Given the description of an element on the screen output the (x, y) to click on. 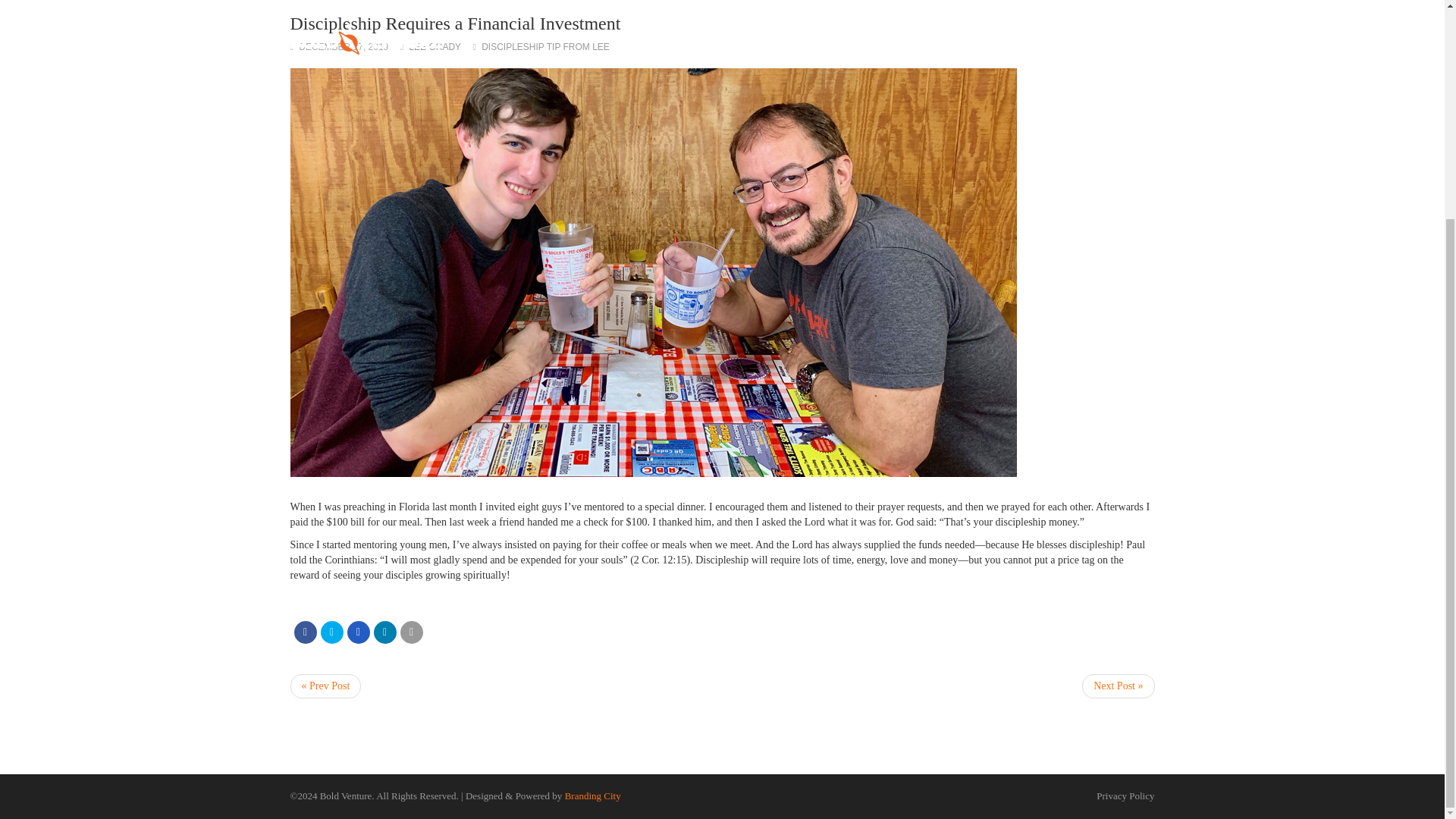
Share on Facebook (305, 631)
DISCIPLESHIP TIP FROM LEE (545, 46)
Branding City (592, 795)
Tweet (331, 631)
Privacy Policy (1125, 795)
Email (411, 631)
Share on Linkedin (384, 631)
LEE GRADY (435, 46)
